Given the description of an element on the screen output the (x, y) to click on. 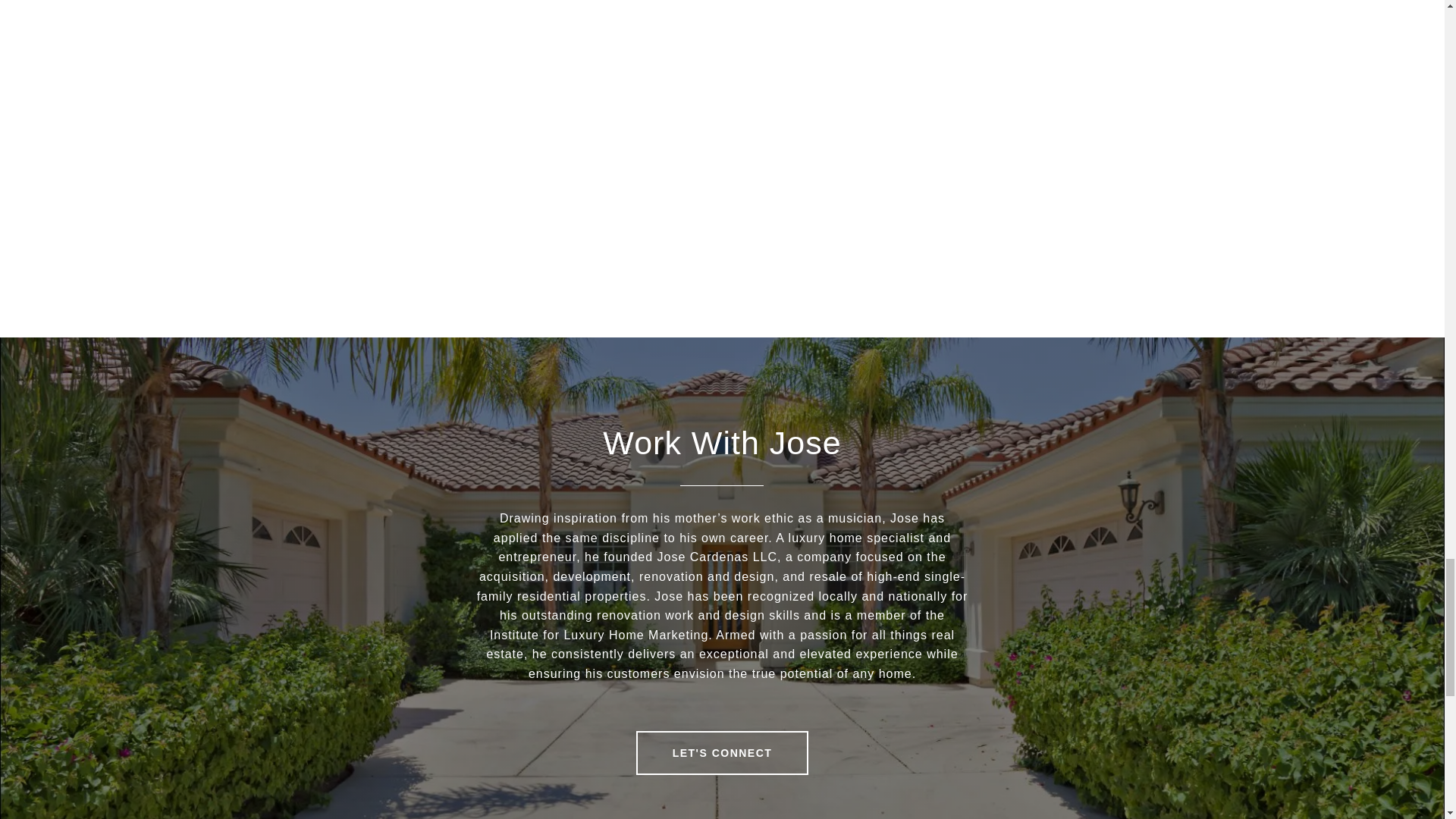
LET'S CONNECT (722, 752)
